Given the description of an element on the screen output the (x, y) to click on. 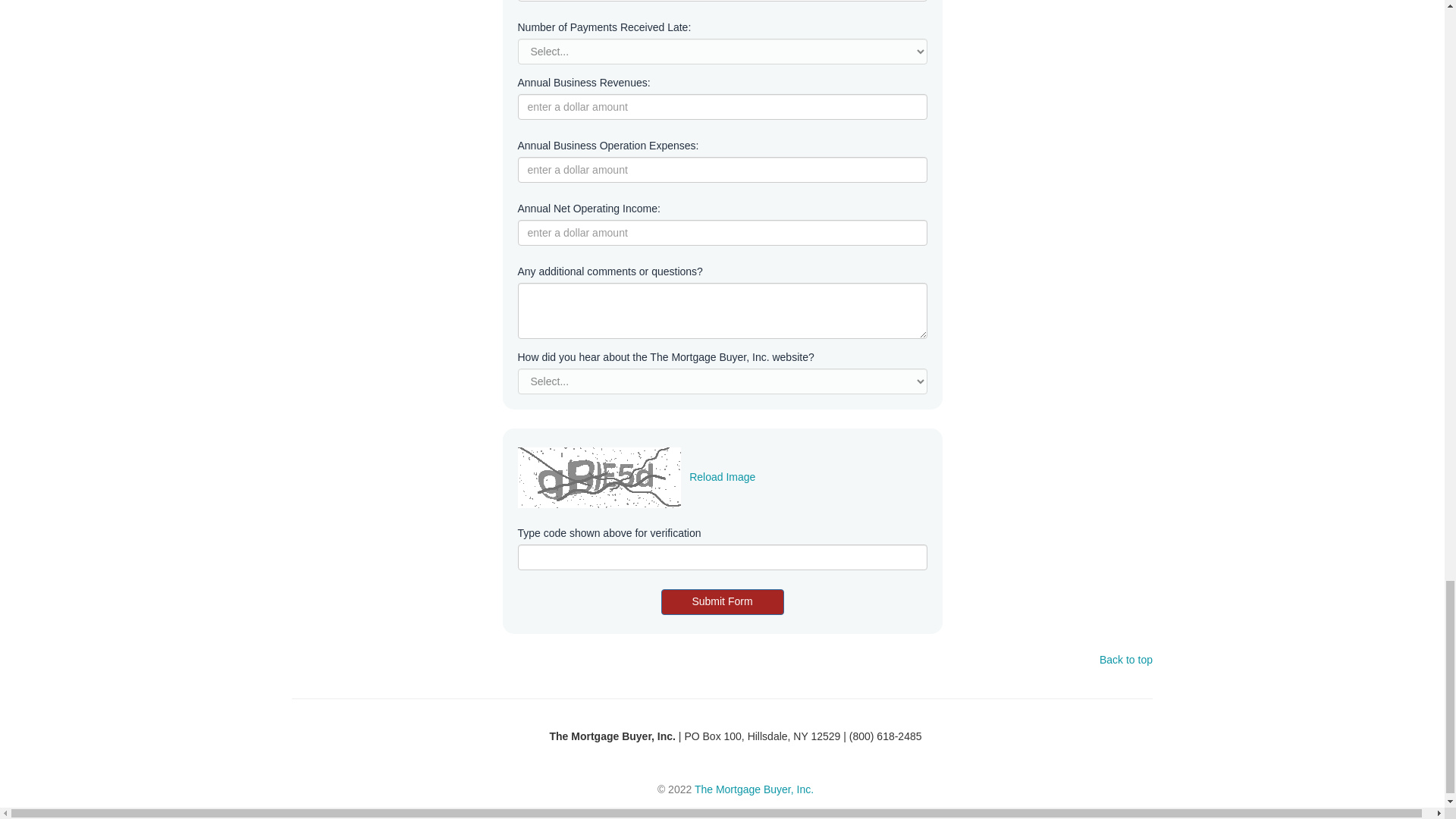
business note buyers (753, 788)
Back to top (1126, 659)
Submit Form (722, 601)
Reload Image (721, 476)
Submit Form (722, 601)
The Mortgage Buyer, Inc. (753, 788)
